Given the description of an element on the screen output the (x, y) to click on. 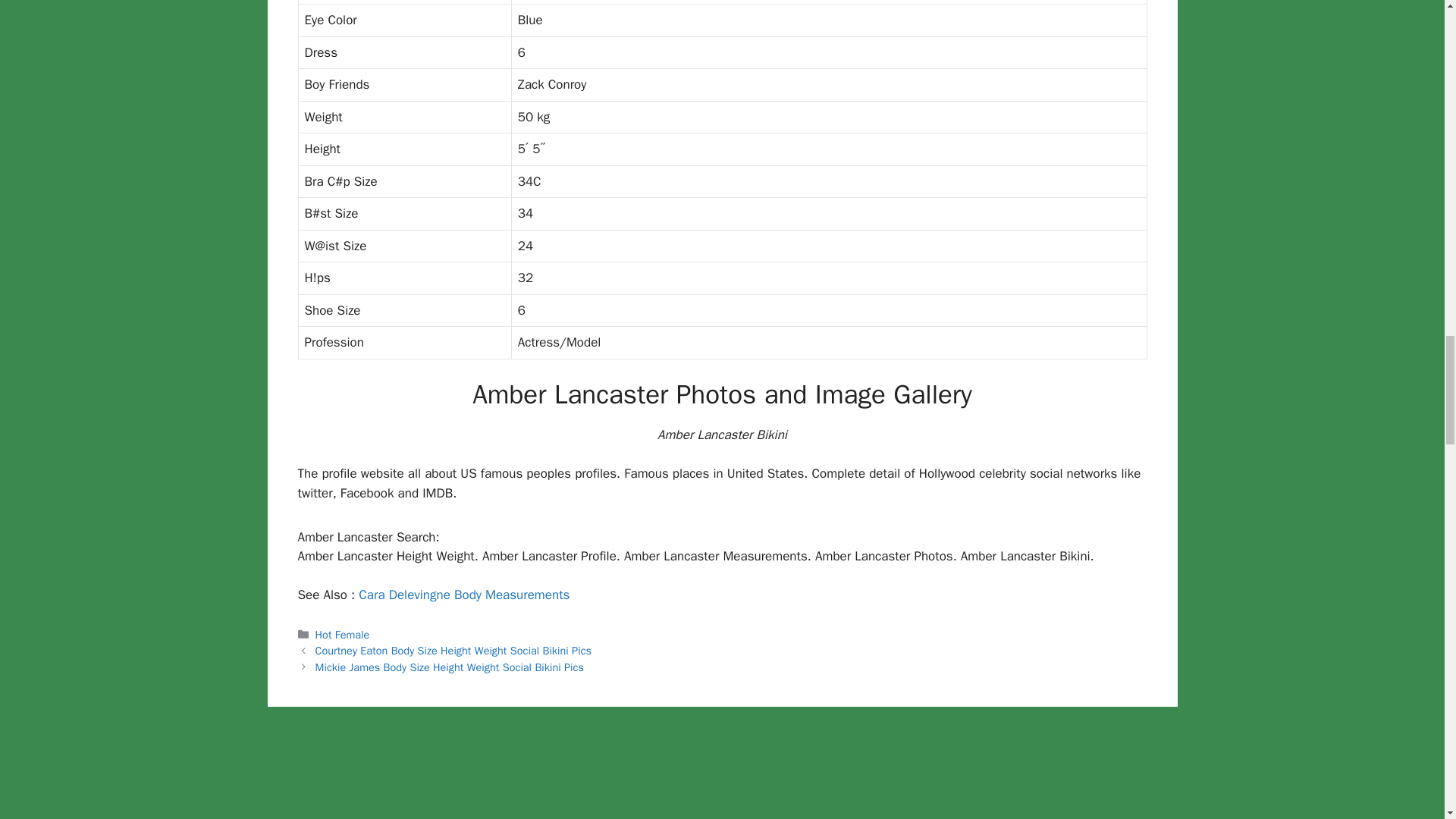
Cara Delevingne Body Measurements (463, 594)
Courtney Eaton Body Size Height Weight Social Bikini Pics (453, 650)
Hot Female (342, 634)
Mickie James Body Size Height Weight Social Bikini Pics (449, 667)
